Given the description of an element on the screen output the (x, y) to click on. 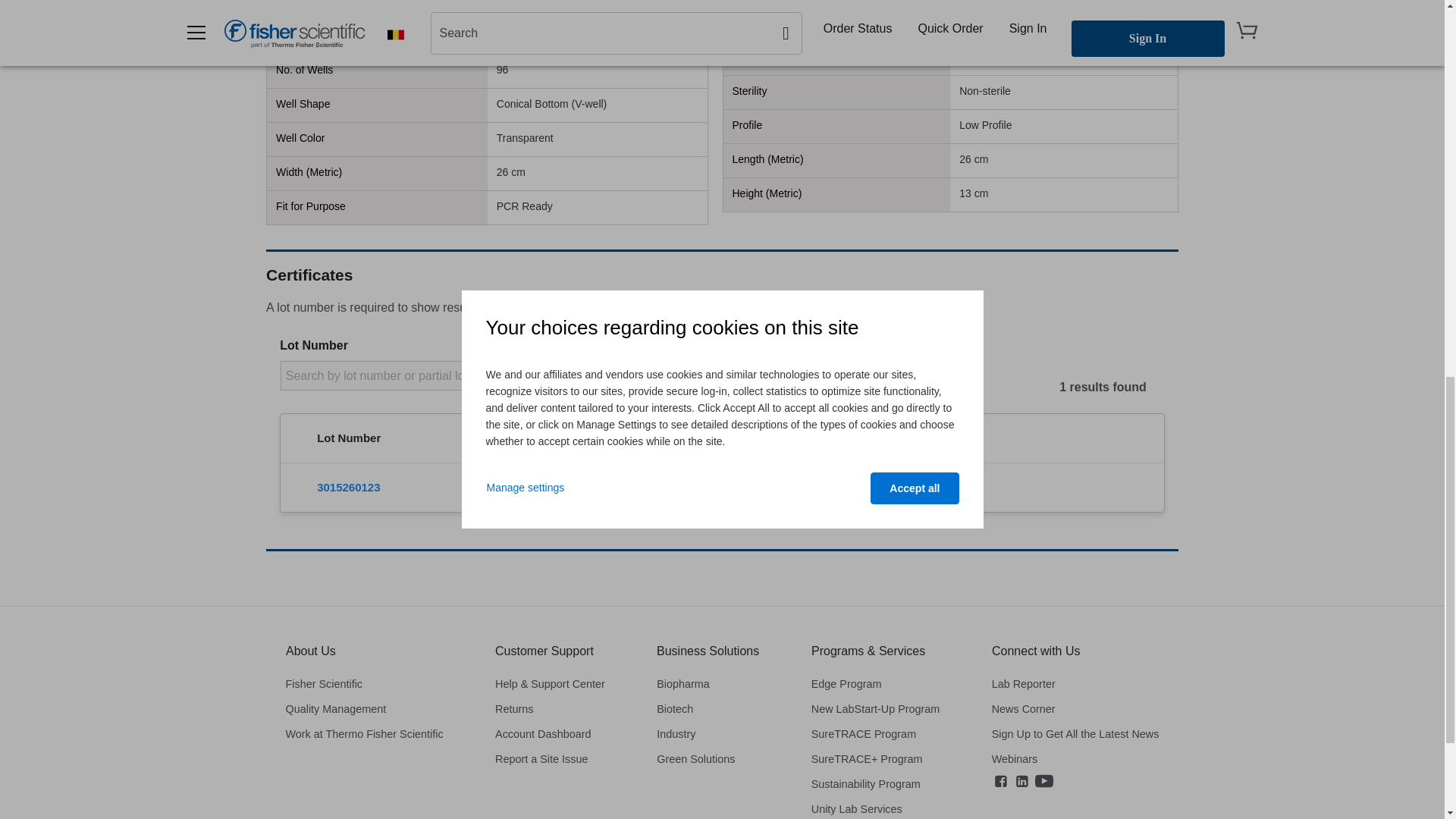
YouTube Icon YouTube Icon (1043, 781)
LinkedIn icon LinkedIn icon (1021, 781)
Facebook icon Facebook icon (1000, 781)
